Given the description of an element on the screen output the (x, y) to click on. 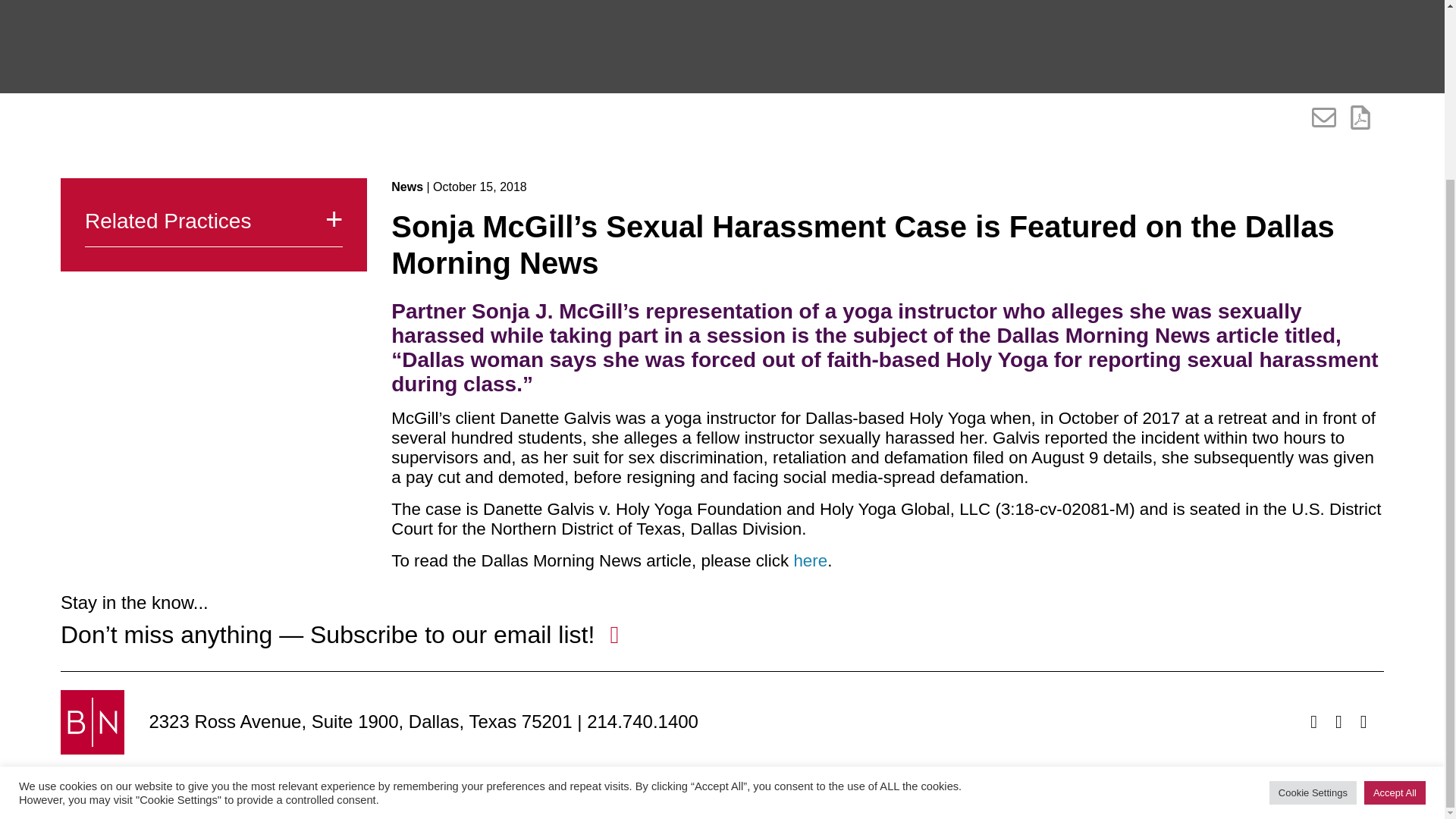
Accept All (1394, 573)
214.740.1400 (642, 721)
Subscribe to our email list! (452, 634)
Share this page (1323, 117)
Sitemap (400, 799)
Disclaimer (474, 799)
Client Pay (654, 799)
Cookie Settings (1312, 573)
Phone (642, 721)
Print to PDF (1360, 117)
here (810, 560)
Privacy Policy (565, 799)
